Given the description of an element on the screen output the (x, y) to click on. 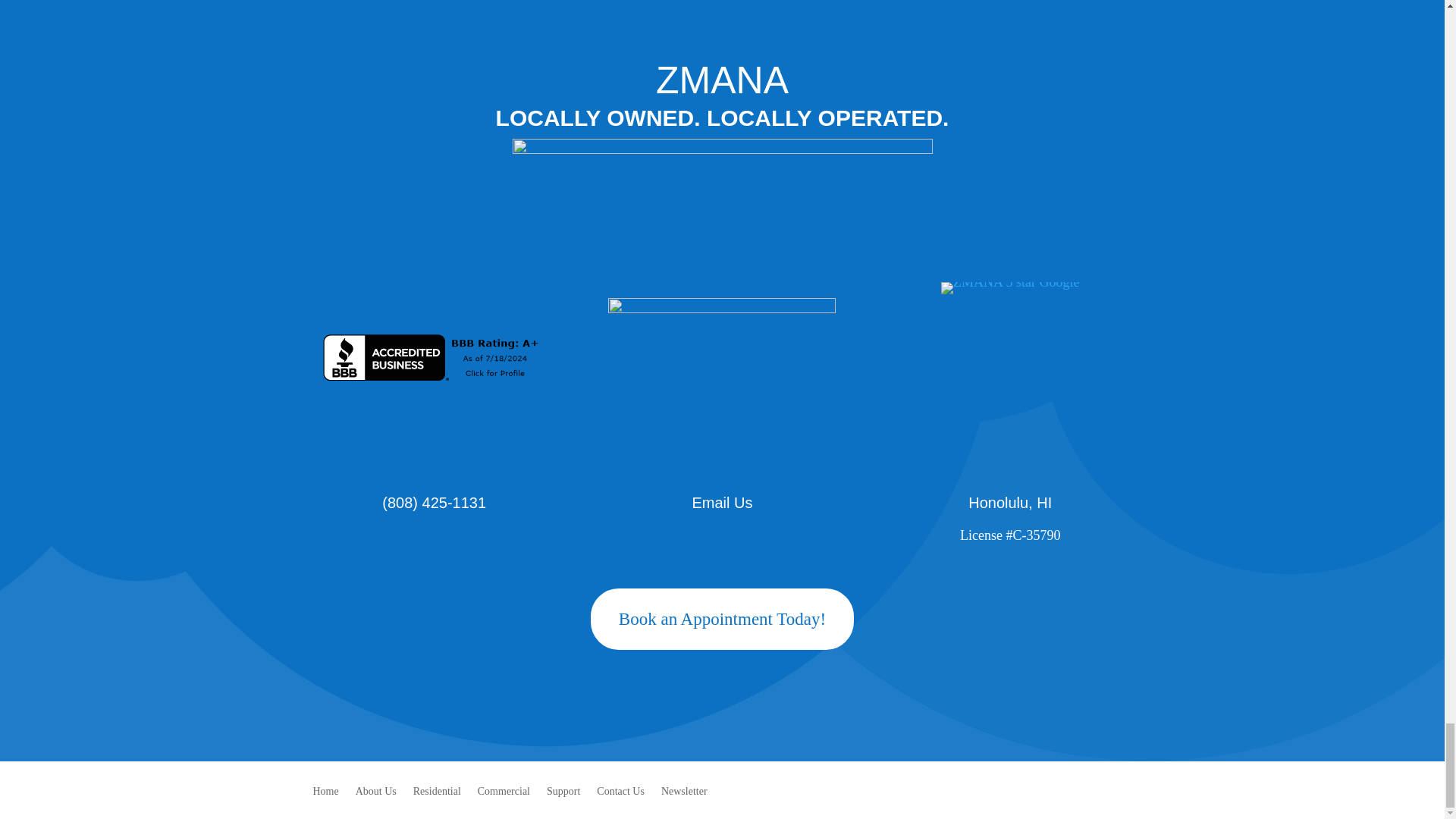
google 5 (1009, 287)
